Given the description of an element on the screen output the (x, y) to click on. 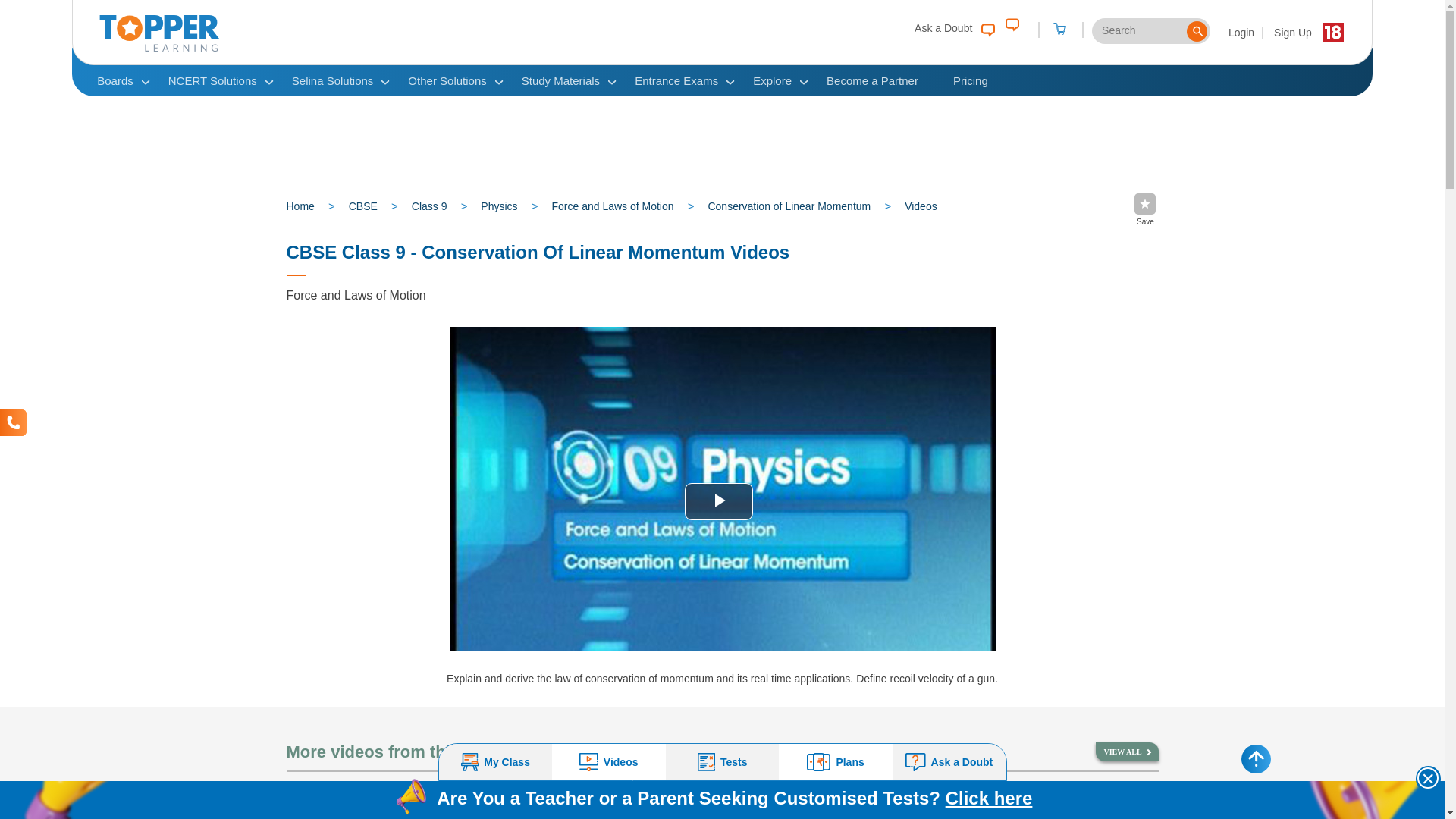
Ask a Doubt (954, 28)
Play Video (718, 501)
Cart (1059, 30)
Boards (114, 80)
TopperLearning (159, 47)
Sign Up (1292, 32)
Login (1242, 32)
